Given the description of an element on the screen output the (x, y) to click on. 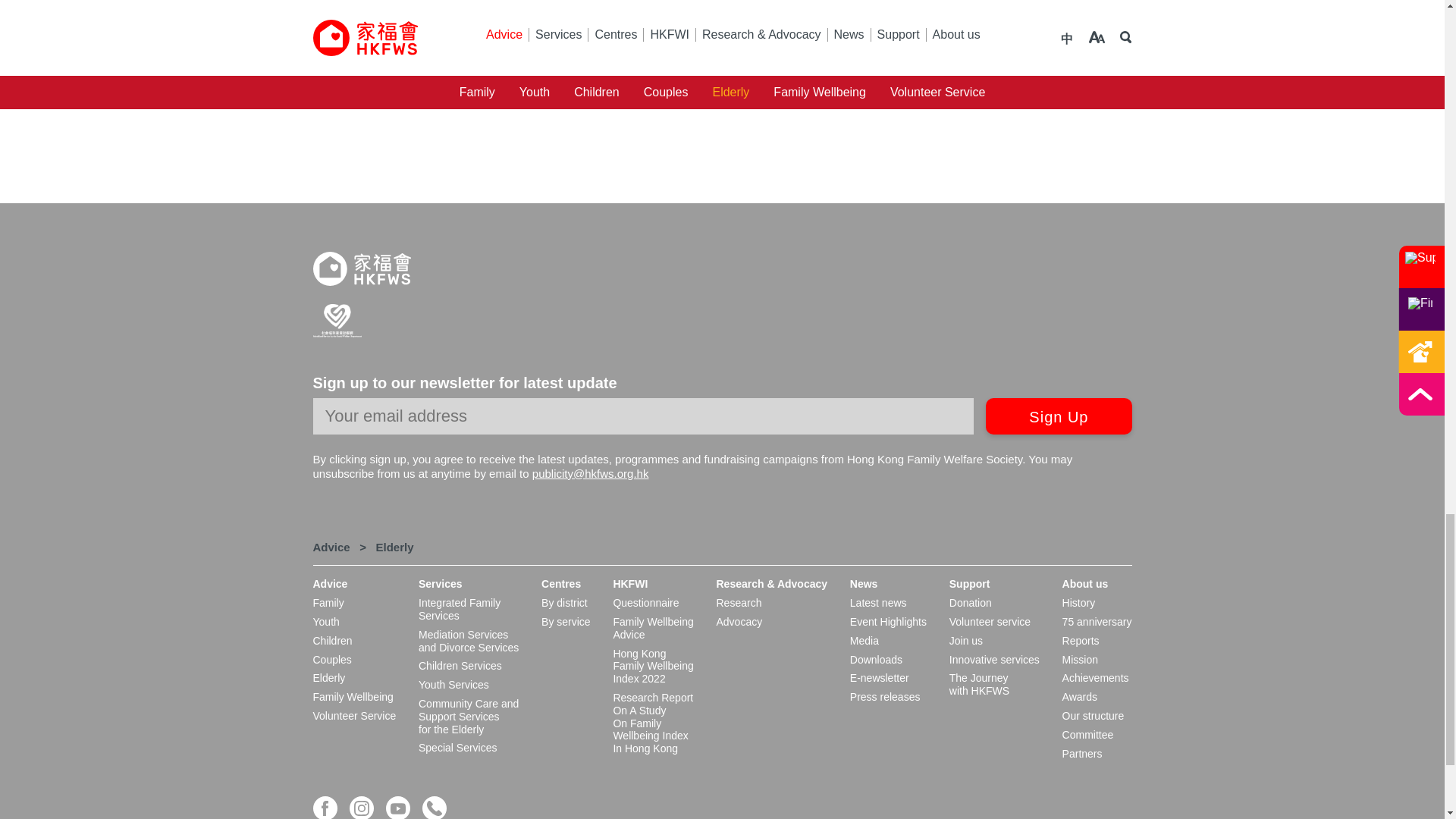
Elderly (394, 546)
Advice (331, 546)
